Given the description of an element on the screen output the (x, y) to click on. 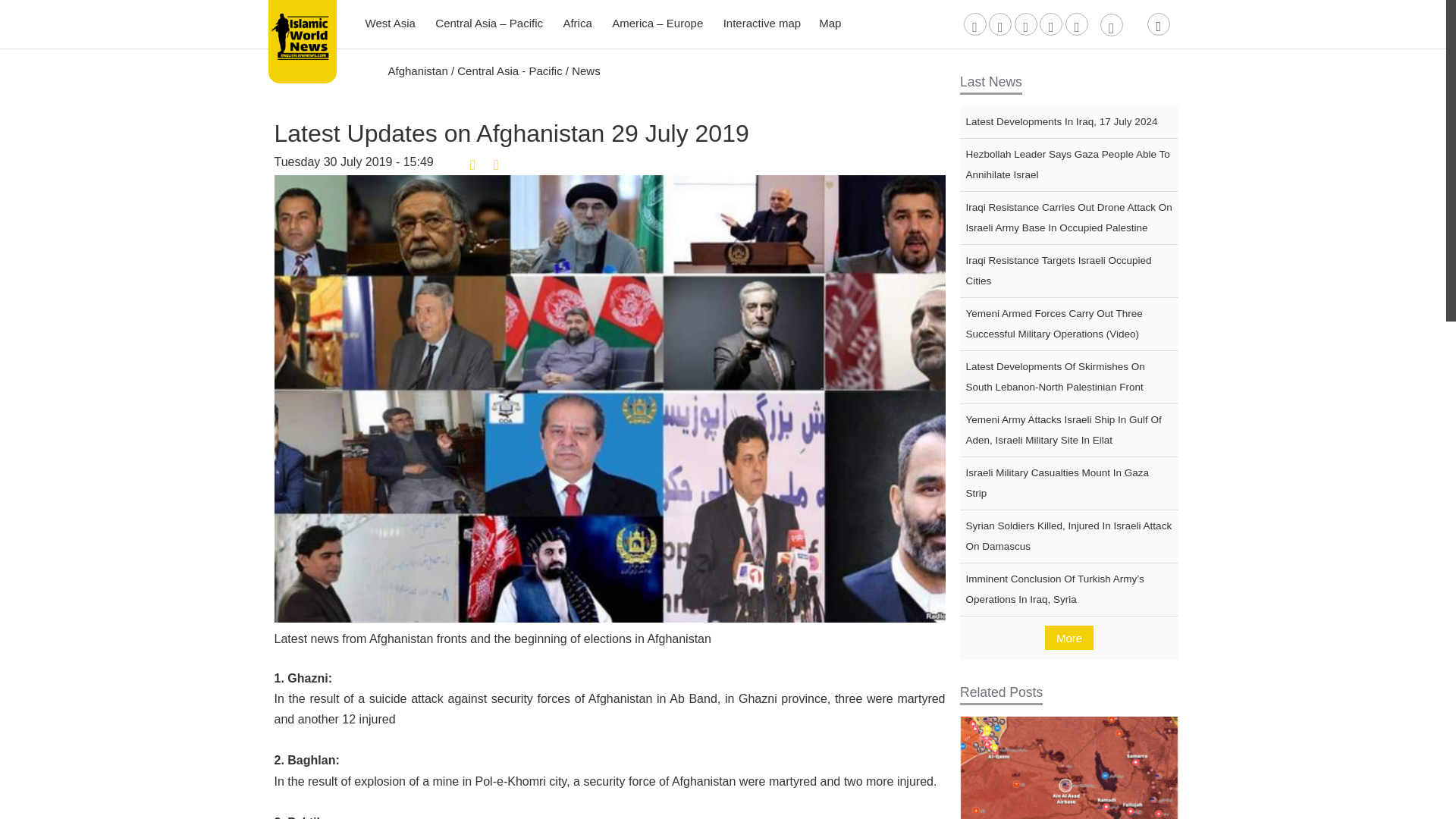
Copy the News Link (473, 164)
Africa (578, 22)
West Asia (391, 22)
Israeli Military Casualties Mount In Gaza Strip (1068, 483)
Iraqi Resistance Targets Israeli Occupied Cities (1068, 271)
Latest Developments In Iraq, 17 July 2024 (1068, 122)
Hezbollah Leader Says Gaza People Able To Annihilate Israel (1068, 164)
